Given the description of an element on the screen output the (x, y) to click on. 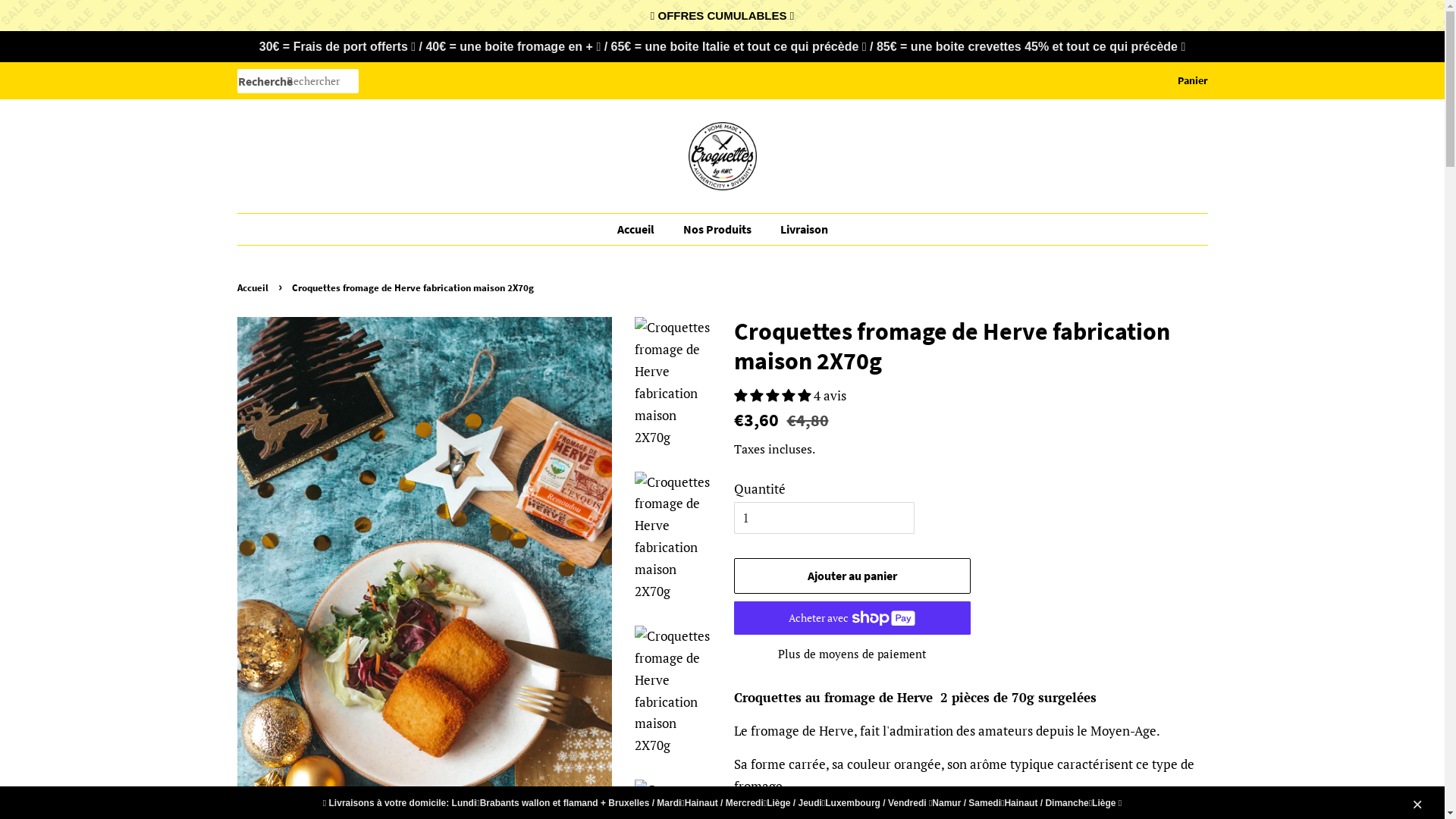
Panier Element type: text (1191, 81)
Ajouter au panier Element type: text (852, 575)
Livraison Element type: text (798, 228)
Recherche Element type: text (260, 81)
Plus de moyens de paiement Element type: text (852, 653)
Nos Produits Element type: text (718, 228)
Accueil Element type: text (253, 287)
Accueil Element type: text (643, 228)
